Given the description of an element on the screen output the (x, y) to click on. 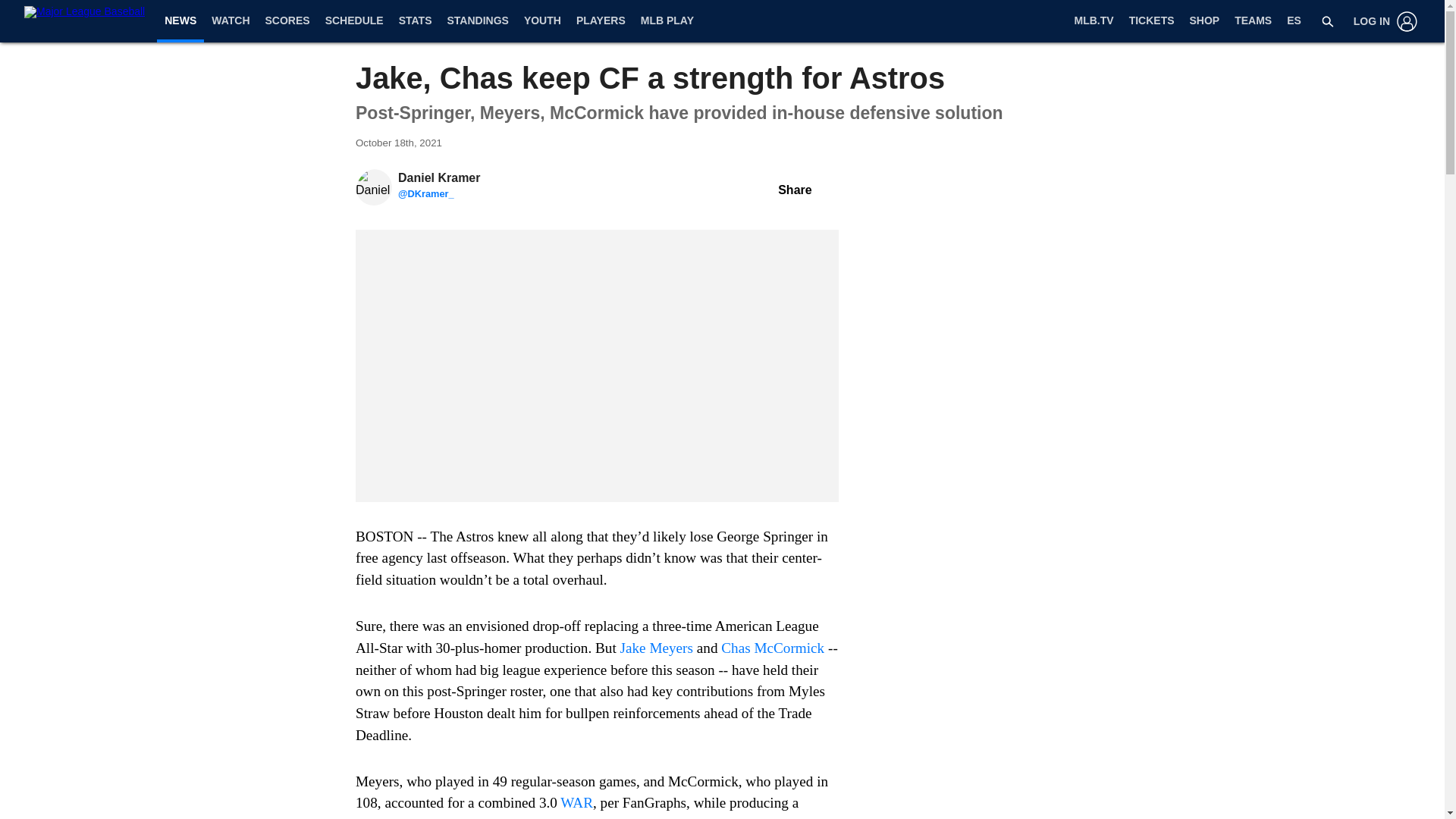
search-119928 (1327, 21)
STANDINGS (477, 21)
NEWS (180, 19)
SCHEDULE (354, 21)
WATCH (230, 21)
SCORES (287, 21)
STATS (415, 21)
